Given the description of an element on the screen output the (x, y) to click on. 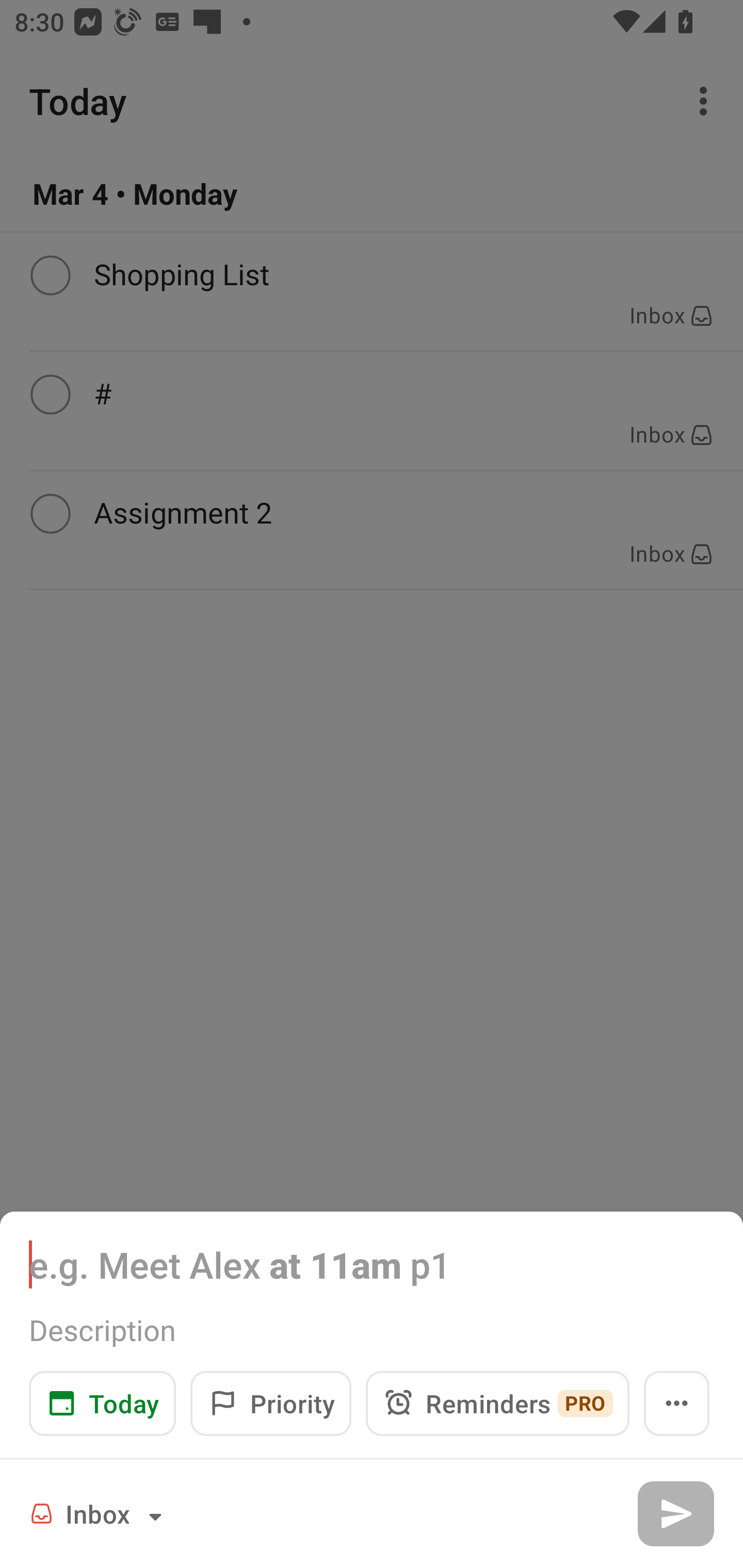
e.g. Meet Alex at 11am p1 (371, 1264)
Description (371, 1330)
Today Date (102, 1403)
Priority (270, 1403)
Reminders PRO Reminders (497, 1403)
Open menu (676, 1403)
Inbox Project (99, 1513)
Add (675, 1513)
